Given the description of an element on the screen output the (x, y) to click on. 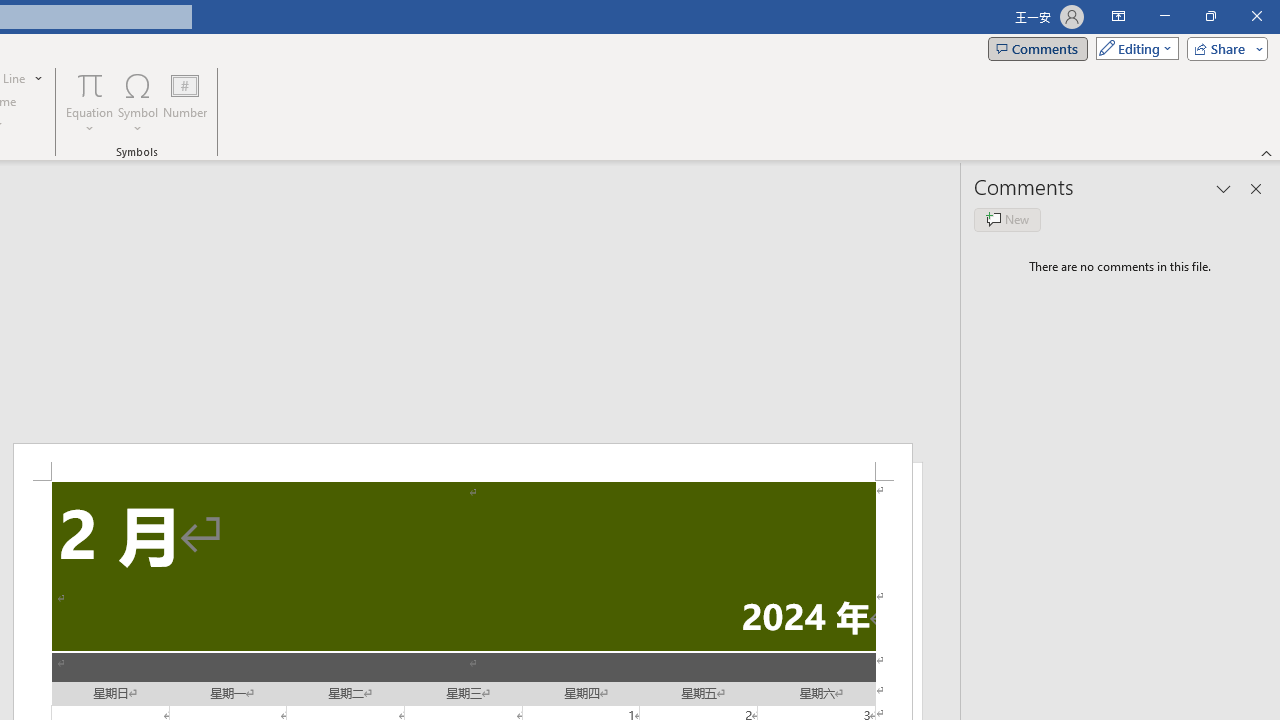
Equation (90, 84)
Equation (90, 102)
Symbol (138, 102)
